Given the description of an element on the screen output the (x, y) to click on. 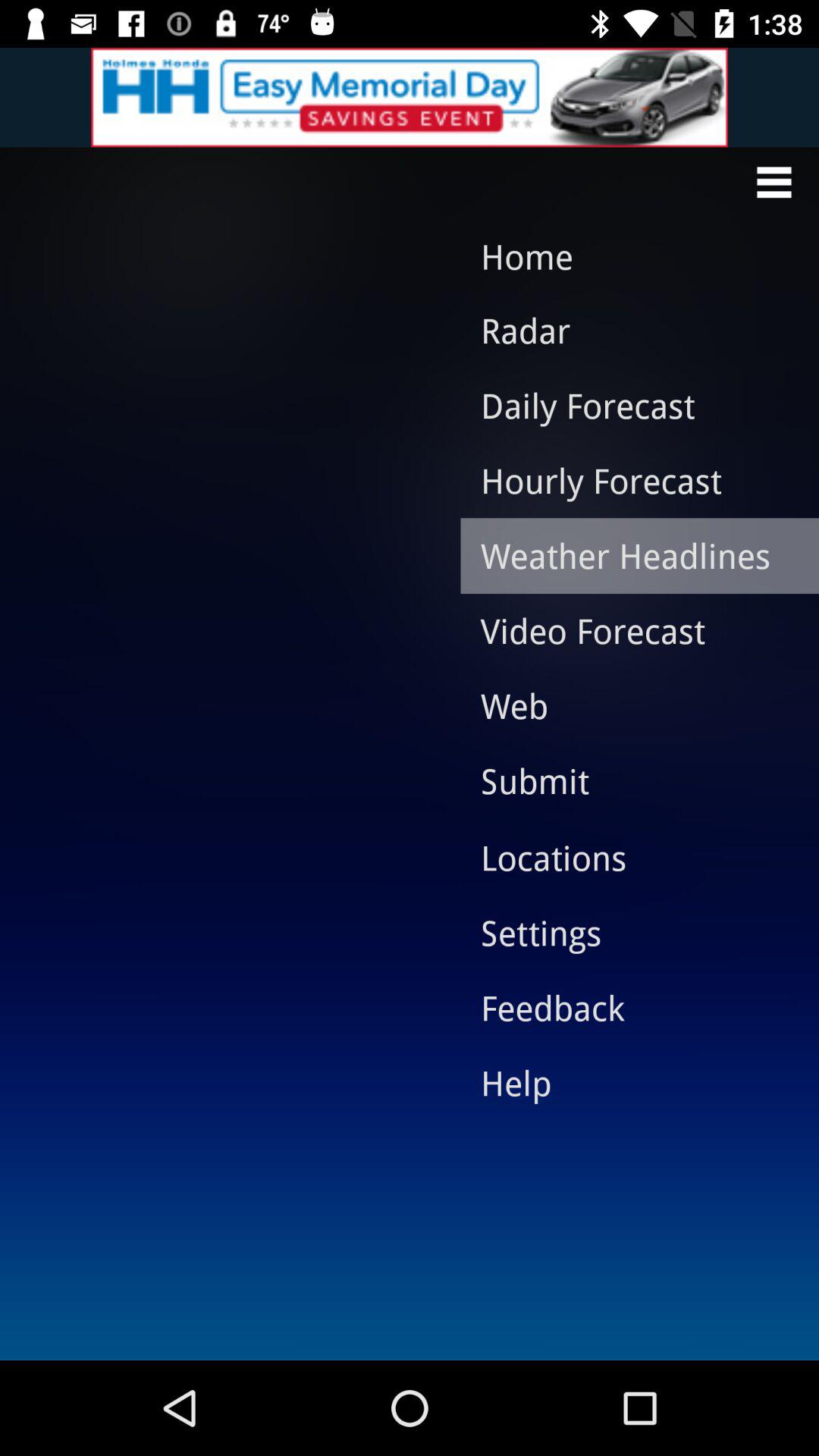
open video forecast (627, 630)
